Given the description of an element on the screen output the (x, y) to click on. 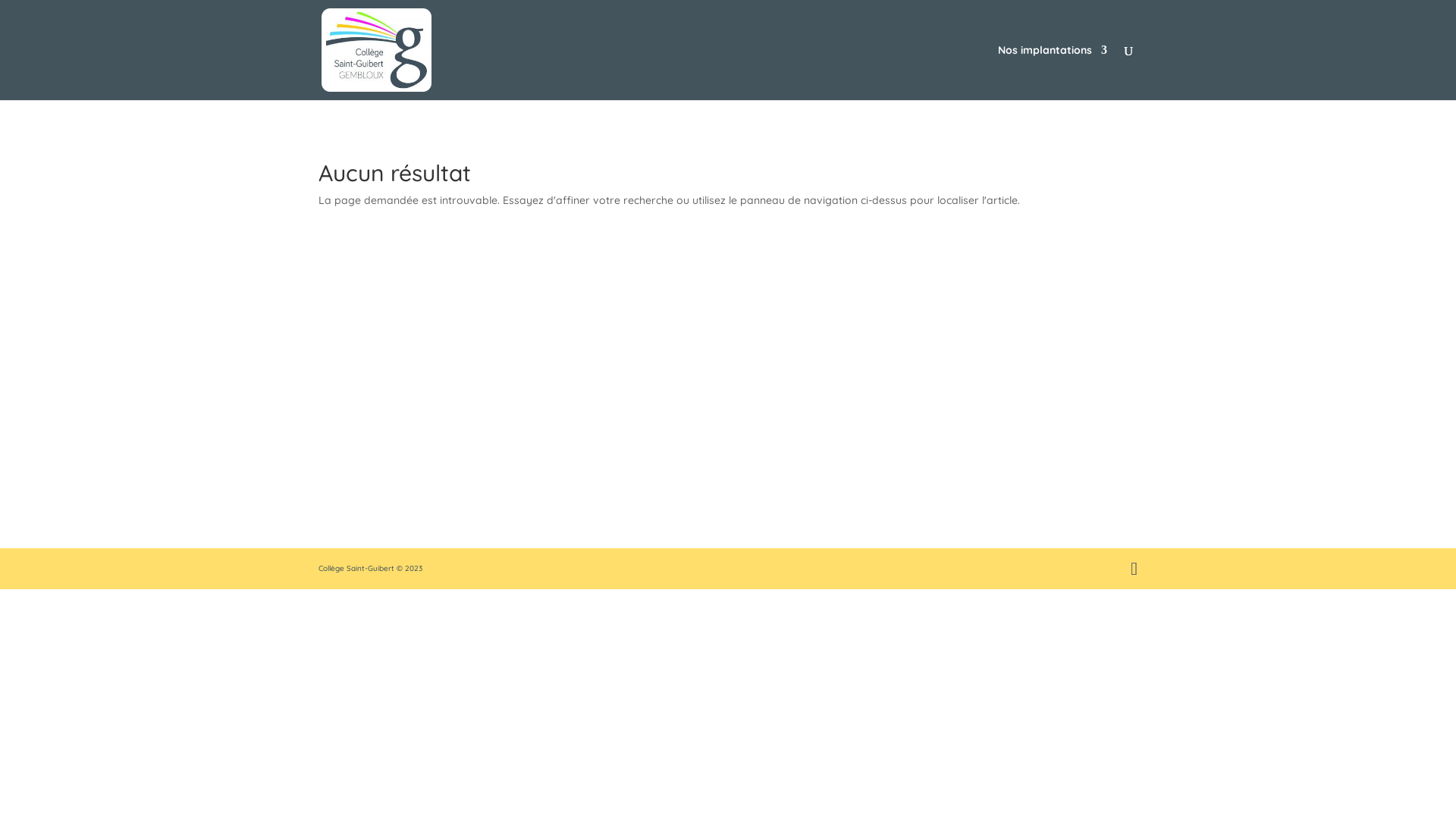
Nos implantations Element type: text (1052, 72)
